Given the description of an element on the screen output the (x, y) to click on. 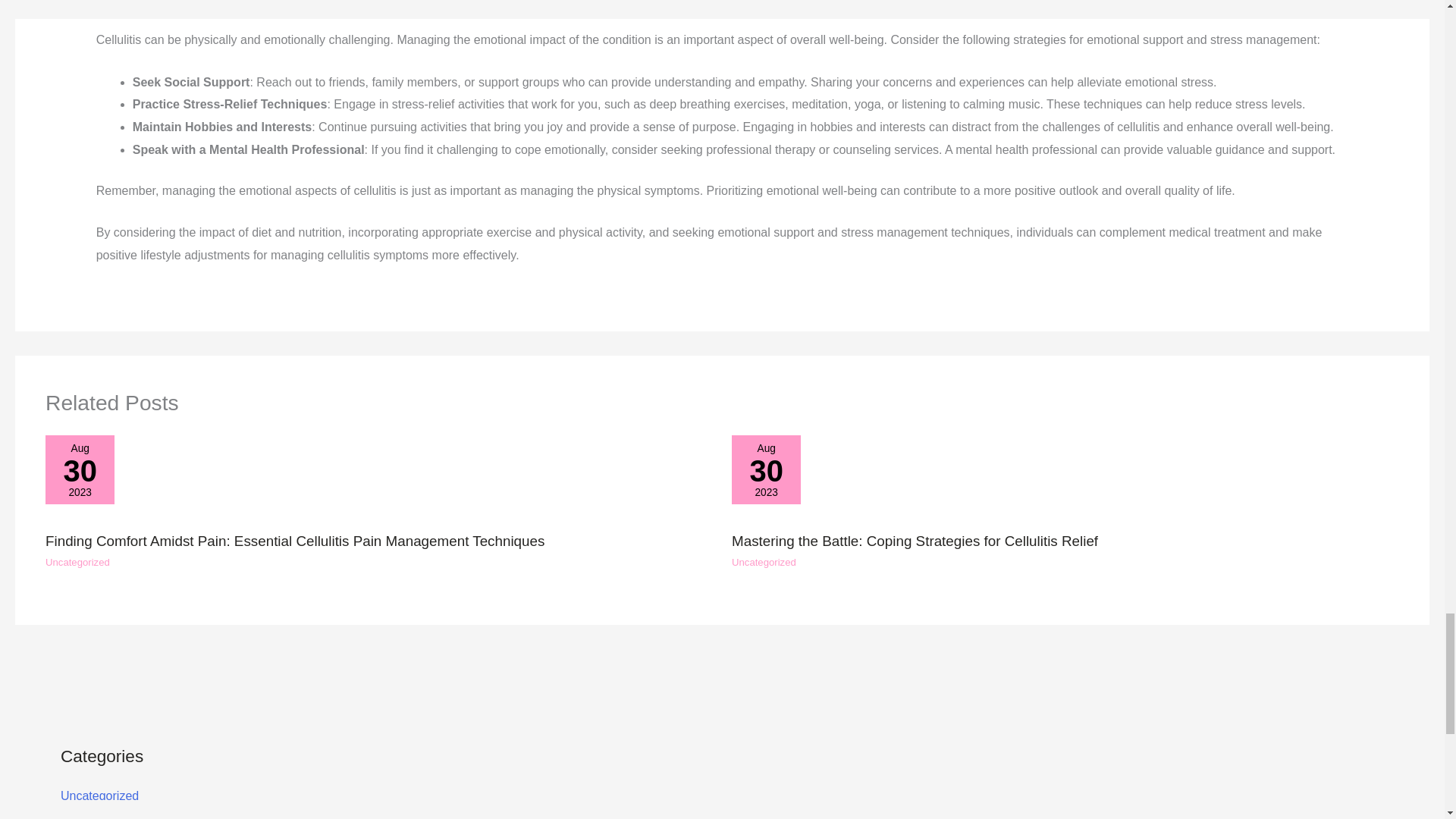
Uncategorized (764, 562)
Uncategorized (99, 795)
Uncategorized (379, 478)
